Given the description of an element on the screen output the (x, y) to click on. 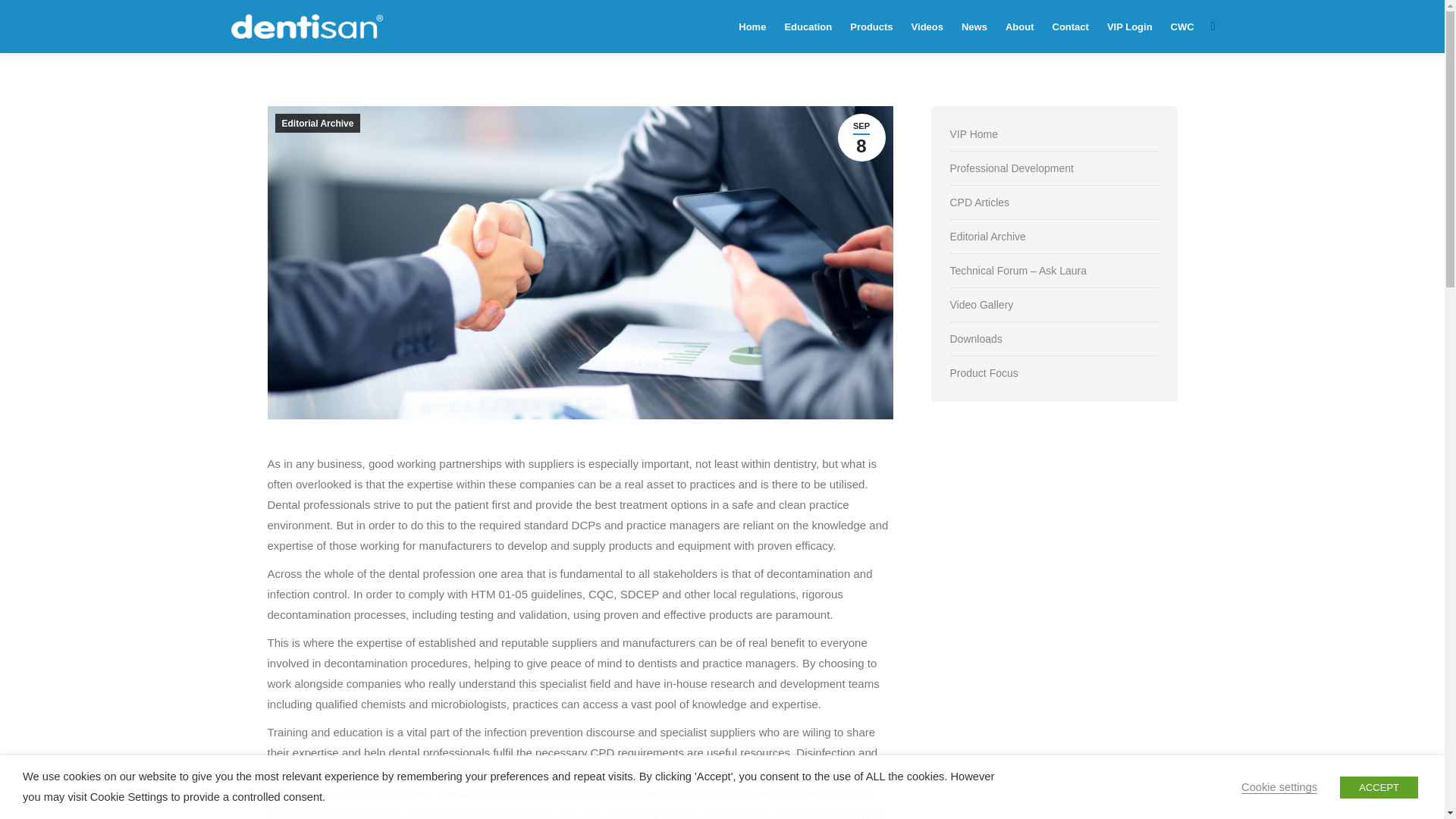
VIP Login (1129, 26)
Contact (1070, 26)
Videos (927, 26)
Go! (24, 15)
2:45 pm (861, 137)
Products (871, 26)
Education (807, 26)
